Given the description of an element on the screen output the (x, y) to click on. 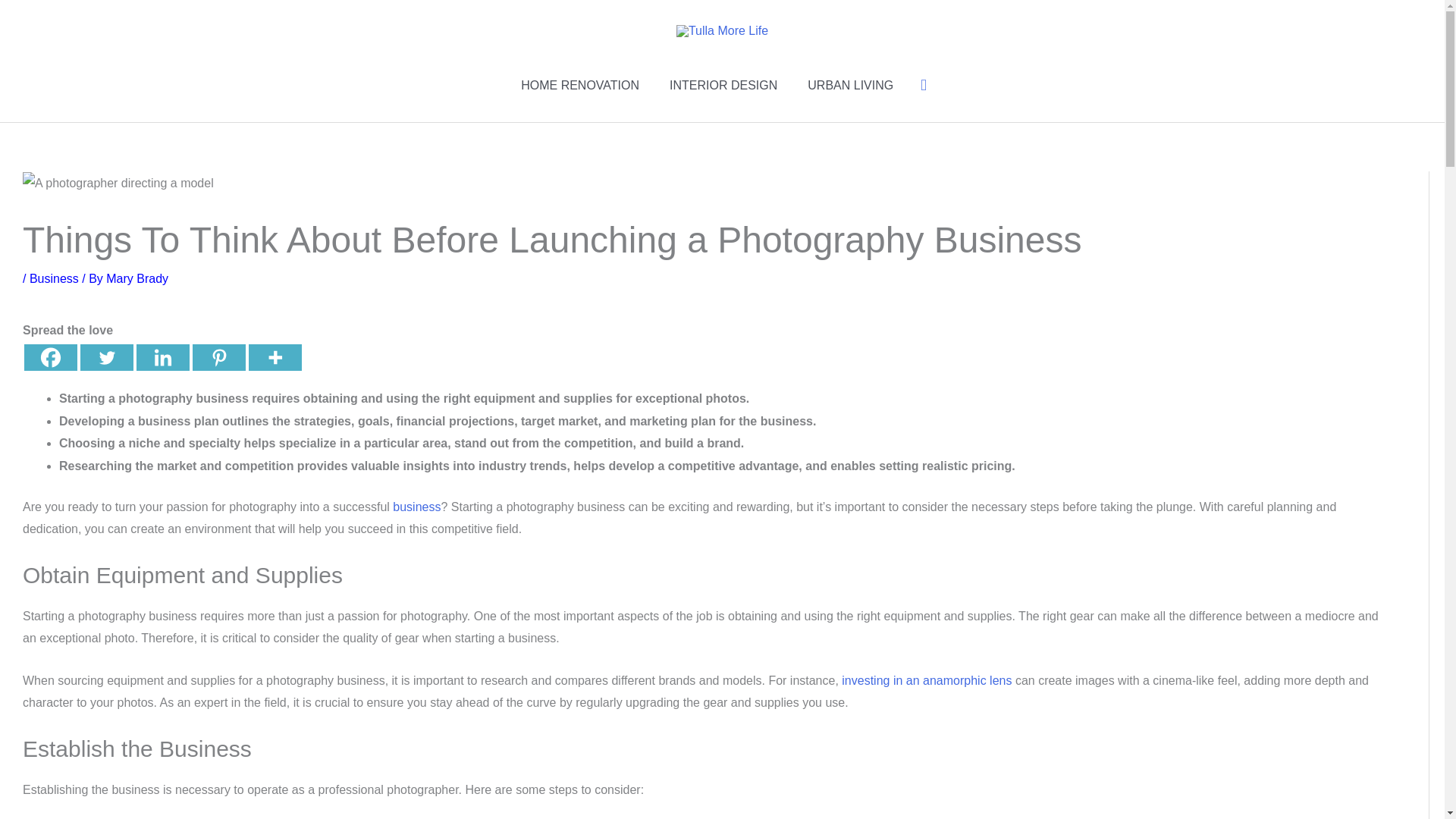
Pinterest (219, 357)
investing in an anamorphic lens (926, 680)
business (417, 506)
Business (53, 278)
URBAN LIVING (850, 85)
Twitter (106, 357)
Facebook (50, 357)
HOME RENOVATION (579, 85)
Linkedin (162, 357)
View all posts by Mary Brady (137, 278)
